Given the description of an element on the screen output the (x, y) to click on. 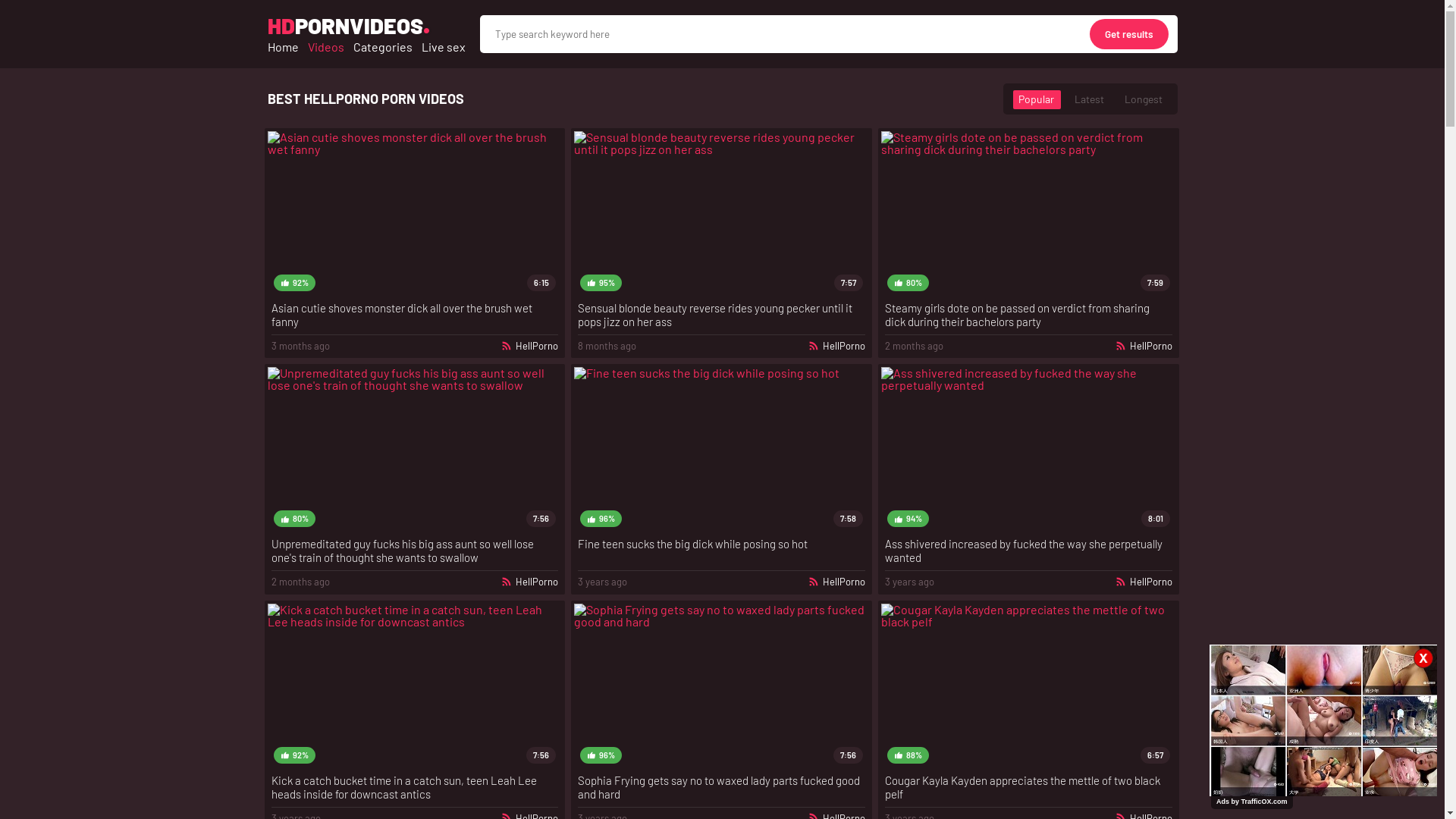
8:01
94% Element type: text (1028, 450)
Categories Element type: text (382, 46)
Asian cutie shoves monster dick all over the brush wet fanny Element type: text (414, 314)
HellPorno Element type: text (529, 346)
HellPorno Element type: text (529, 581)
6:57
88% Element type: text (1028, 686)
HellPorno Element type: text (836, 581)
Cougar Kayla Kayden appreciates the mettle of two black pelf Element type: text (1028, 786)
Longest Element type: text (1142, 98)
HellPorno Element type: text (1143, 581)
Fine teen sucks the big dick while posing so hot Element type: text (721, 550)
Get results Element type: text (1127, 33)
HellPorno Element type: text (1143, 346)
Popular Element type: text (1035, 98)
7:58
96% Element type: text (721, 450)
Home Element type: text (282, 46)
7:57
95% Element type: text (721, 214)
7:56
80% Element type: text (413, 450)
Search X Videos Element type: hover (827, 34)
HellPorno Element type: text (836, 346)
Videos Element type: text (325, 46)
7:56
96% Element type: text (721, 686)
Ads by TrafficOX.com Element type: text (1251, 801)
Latest Element type: text (1088, 98)
HDPORNVIDEOS Element type: text (344, 25)
7:59
80% Element type: text (1028, 214)
6:15
92% Element type: text (413, 214)
7:56
92% Element type: text (413, 686)
Live sex Element type: text (443, 46)
